Given the description of an element on the screen output the (x, y) to click on. 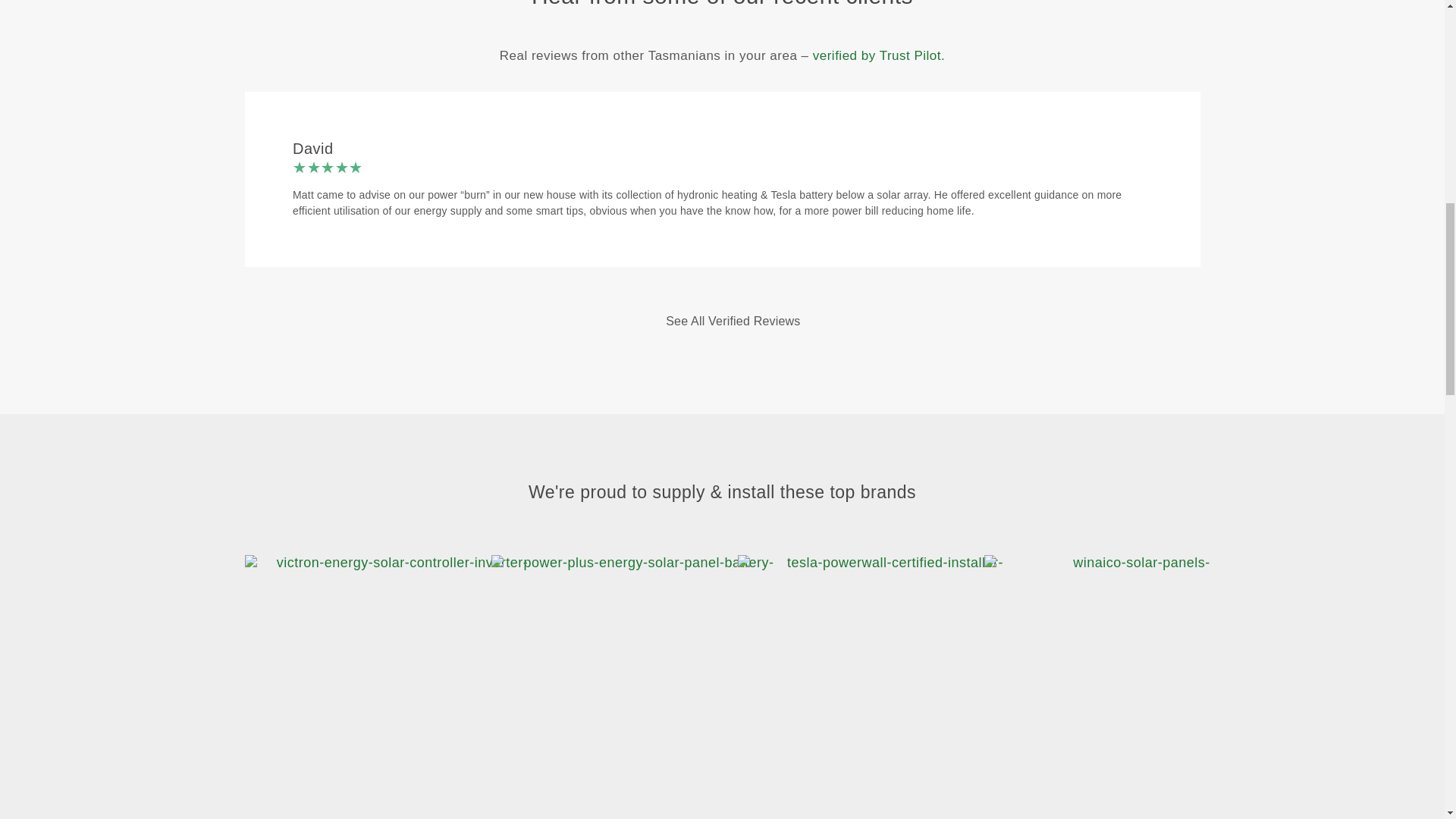
See All Verified Reviews (721, 321)
verified by Trust Pilot. (878, 55)
